Given the description of an element on the screen output the (x, y) to click on. 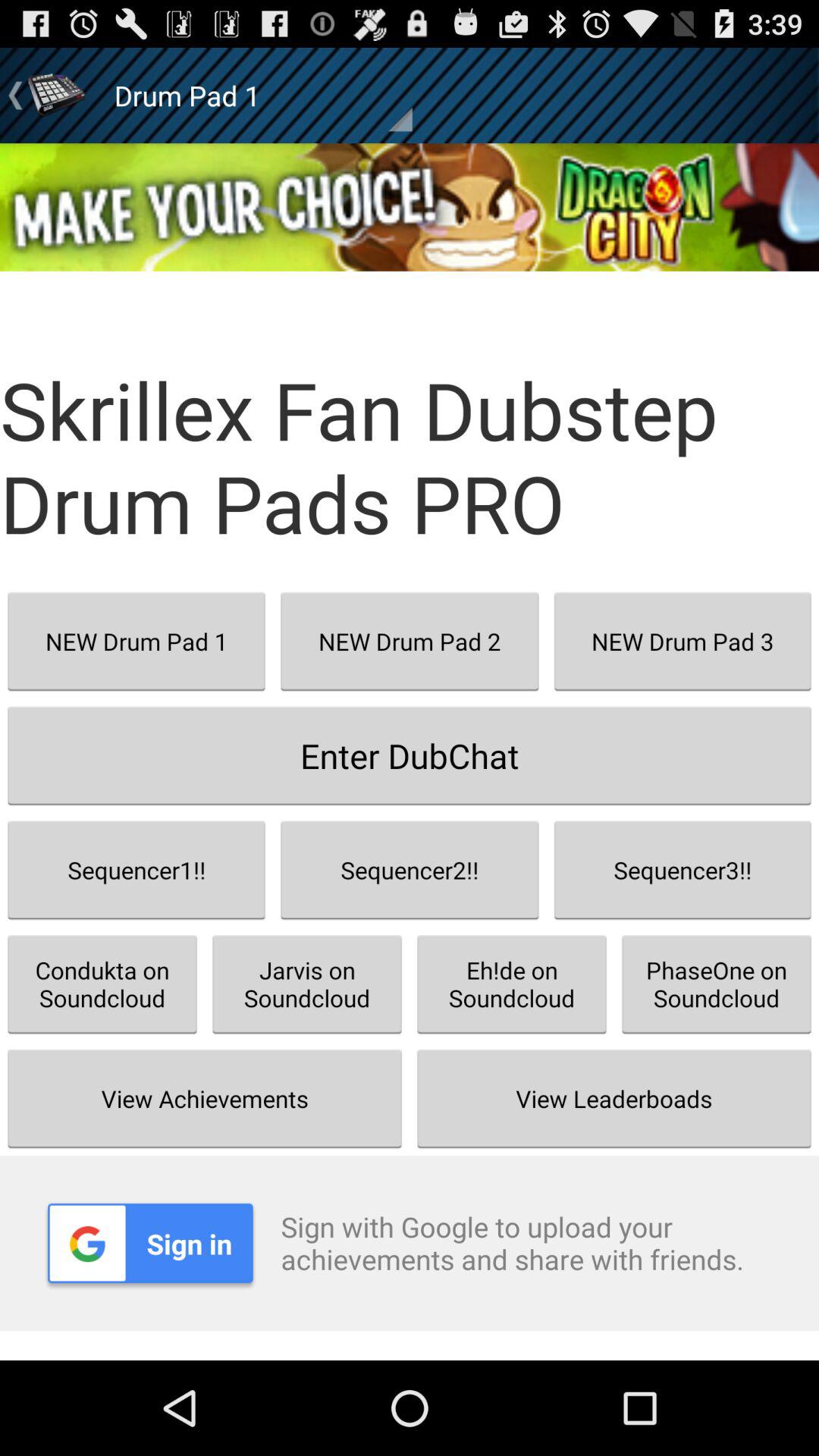
open icon above the view achievements button (306, 984)
